Given the description of an element on the screen output the (x, y) to click on. 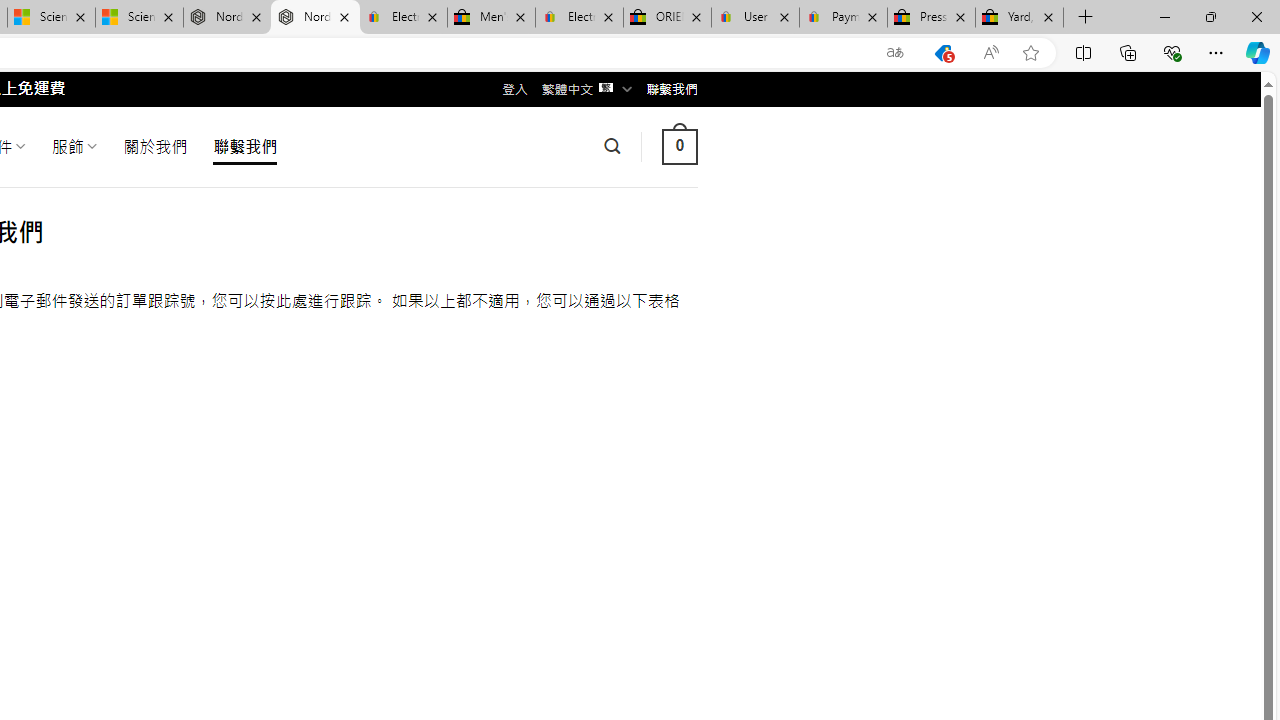
Yard, Garden & Outdoor Living (1019, 17)
This site has coupons! Shopping in Microsoft Edge, 5 (943, 53)
Payments Terms of Use | eBay.com (843, 17)
User Privacy Notice | eBay (754, 17)
